Given the description of an element on the screen output the (x, y) to click on. 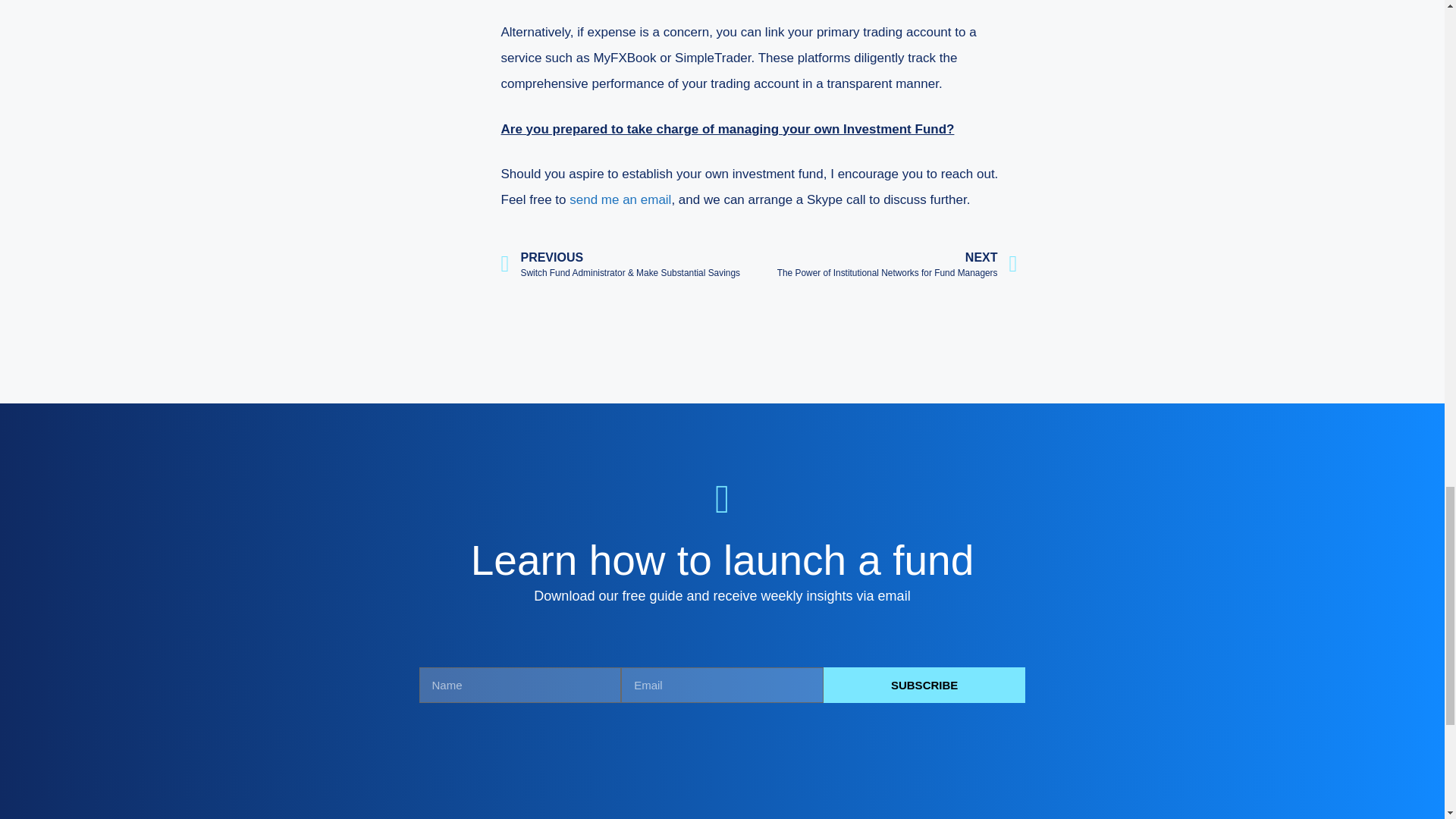
send me an email (897, 264)
SUBSCRIBE (620, 199)
